Given the description of an element on the screen output the (x, y) to click on. 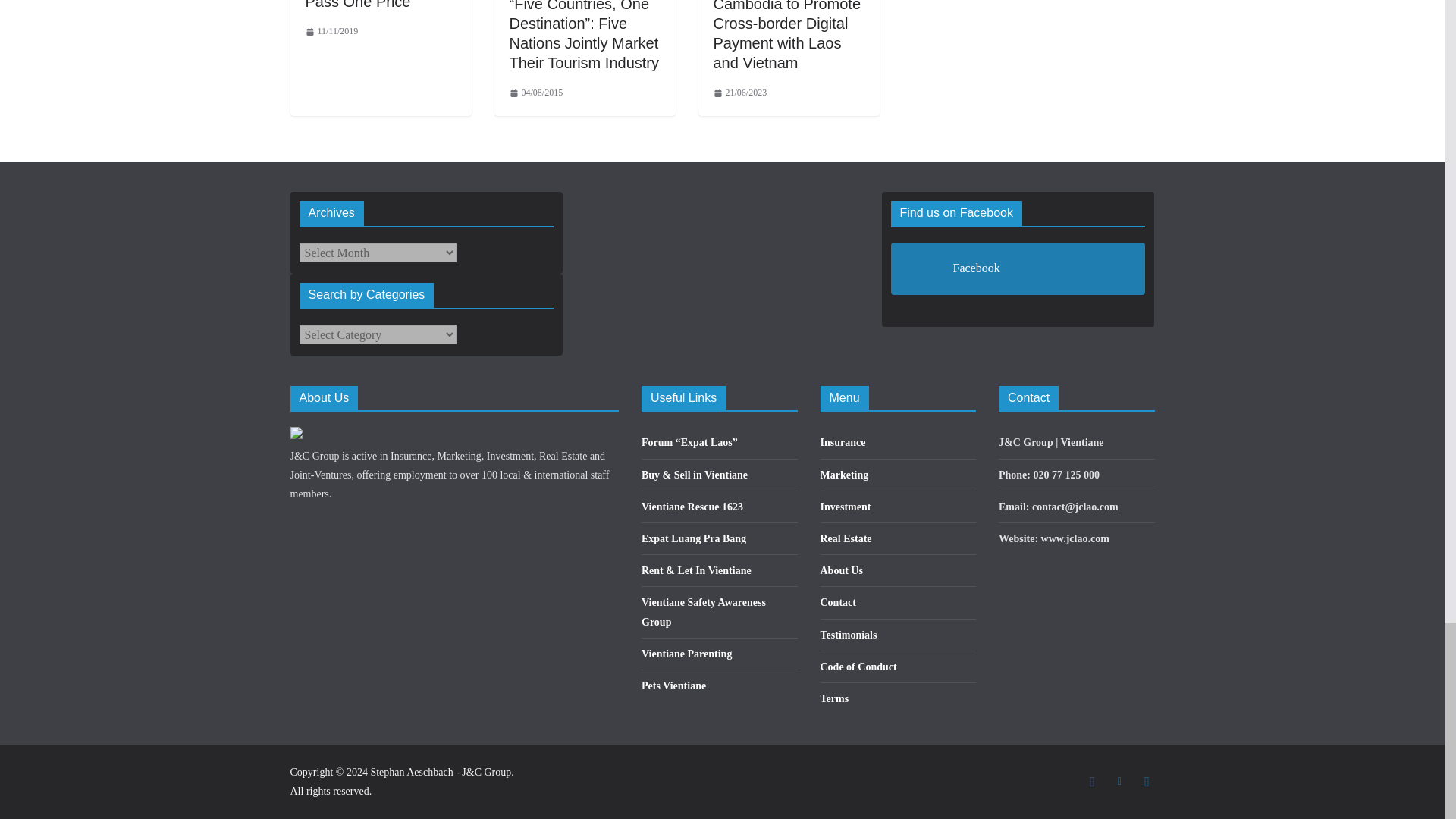
Thai Airways Sell One Pass One Price (378, 4)
13:39 (331, 31)
Thai Airways Sell One Pass One Price (378, 4)
04:12 (536, 93)
